Given the description of an element on the screen output the (x, y) to click on. 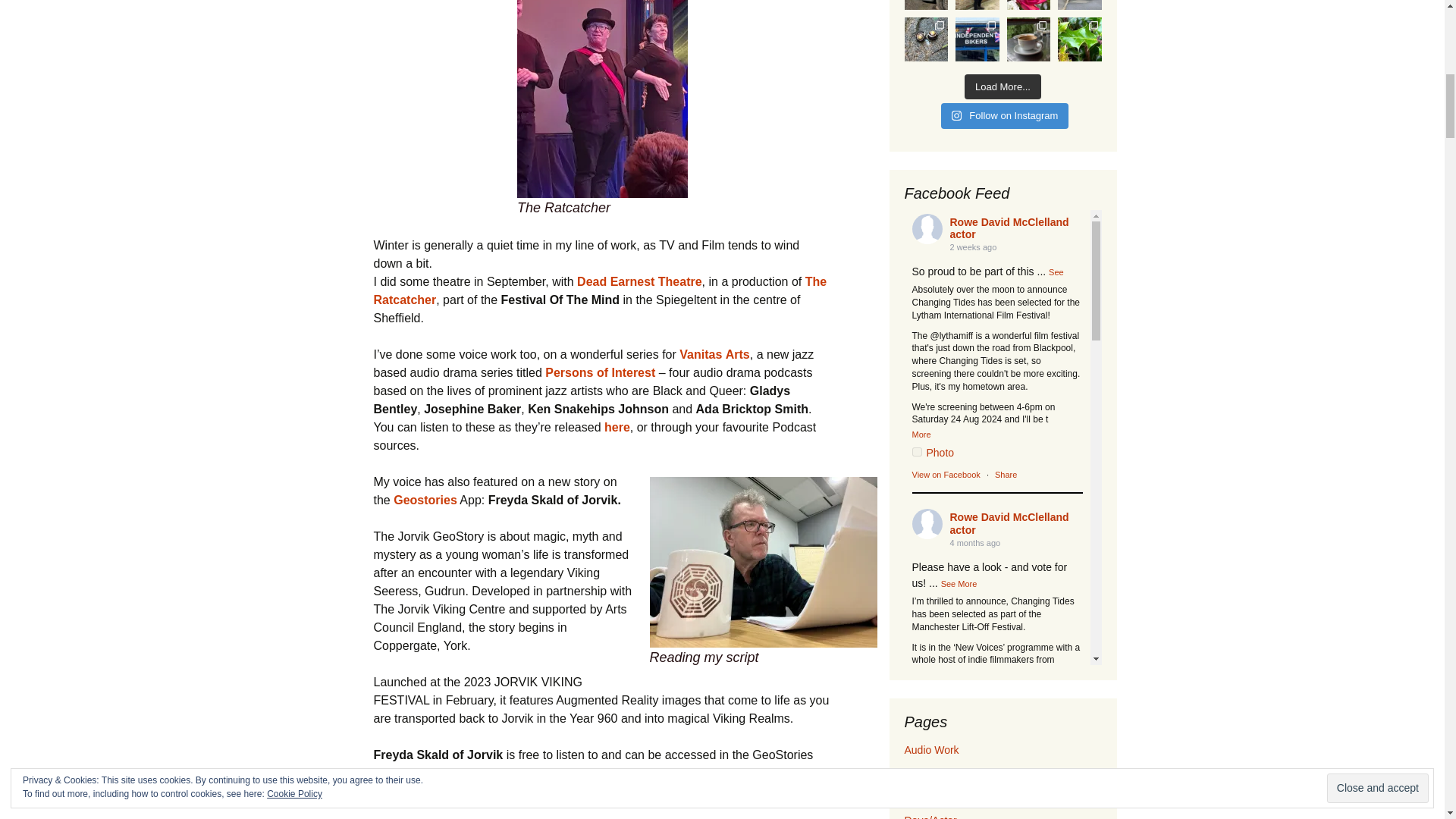
View on Facebook (945, 474)
